Given the description of an element on the screen output the (x, y) to click on. 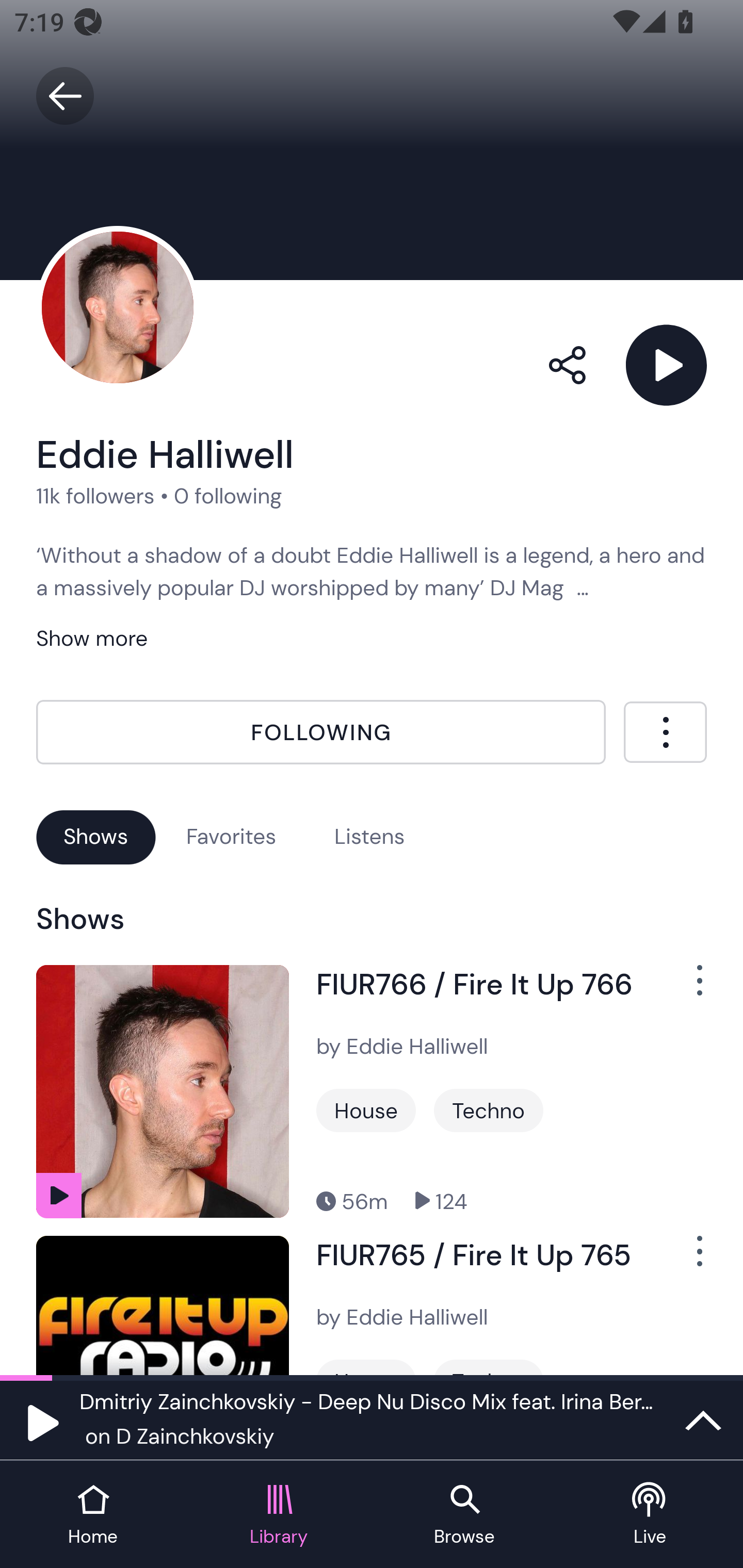
11k followers (95, 495)
0 following (227, 495)
Following FOLLOWING (320, 732)
More Menu (665, 731)
Shows (95, 836)
Favorites (231, 836)
Listens (369, 836)
Show Options Menu Button (688, 987)
House (366, 1110)
Techno (488, 1110)
Show Options Menu Button (688, 1258)
Home tab Home (92, 1515)
Library tab Library (278, 1515)
Browse tab Browse (464, 1515)
Live tab Live (650, 1515)
